Given the description of an element on the screen output the (x, y) to click on. 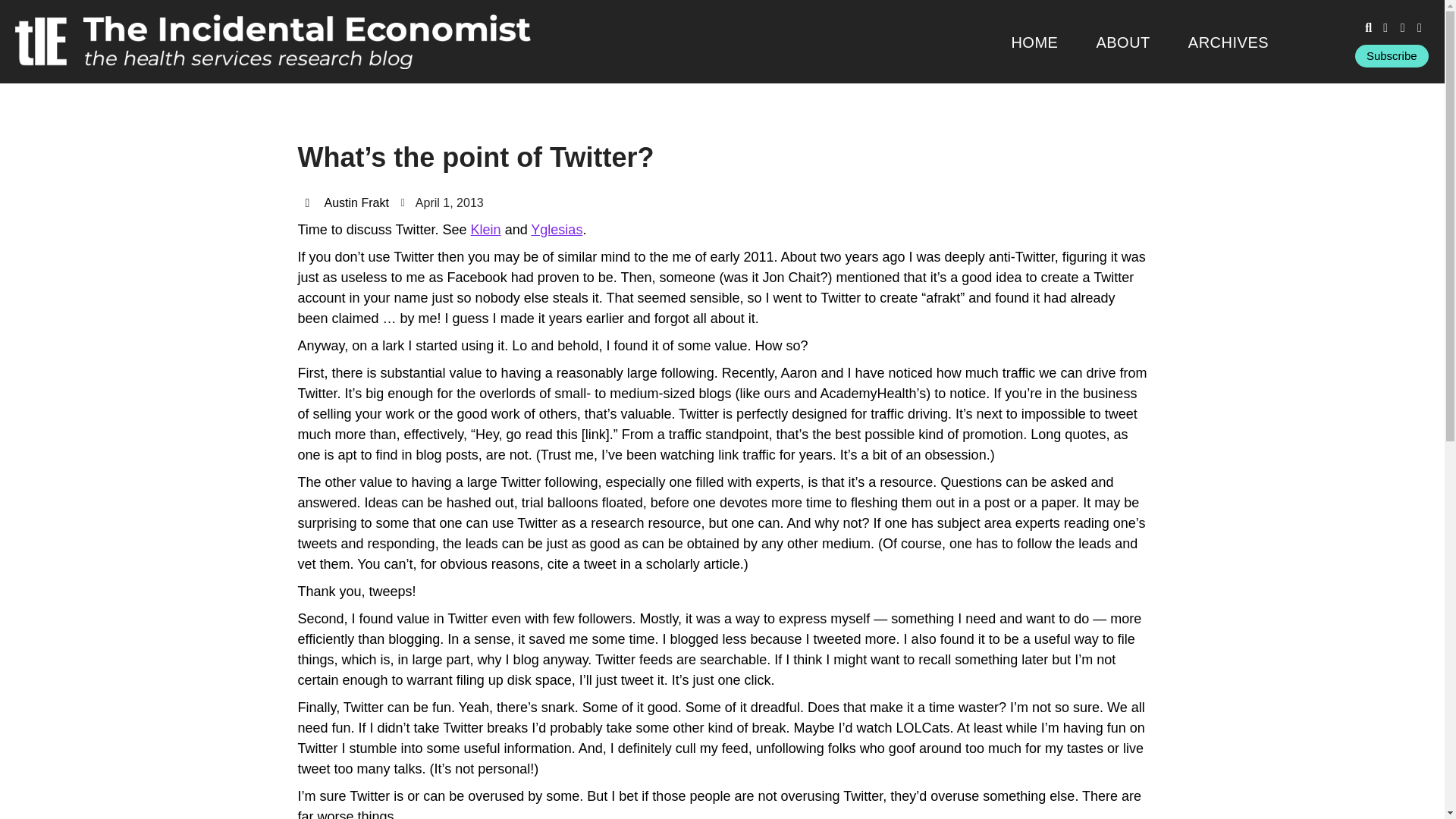
Klein (485, 229)
ARCHIVES (1228, 41)
Yglesias (556, 229)
ABOUT (1122, 41)
Subscribe (1391, 56)
April 1, 2013 (442, 203)
Austin Frakt (346, 203)
HOME (1034, 41)
